Given the description of an element on the screen output the (x, y) to click on. 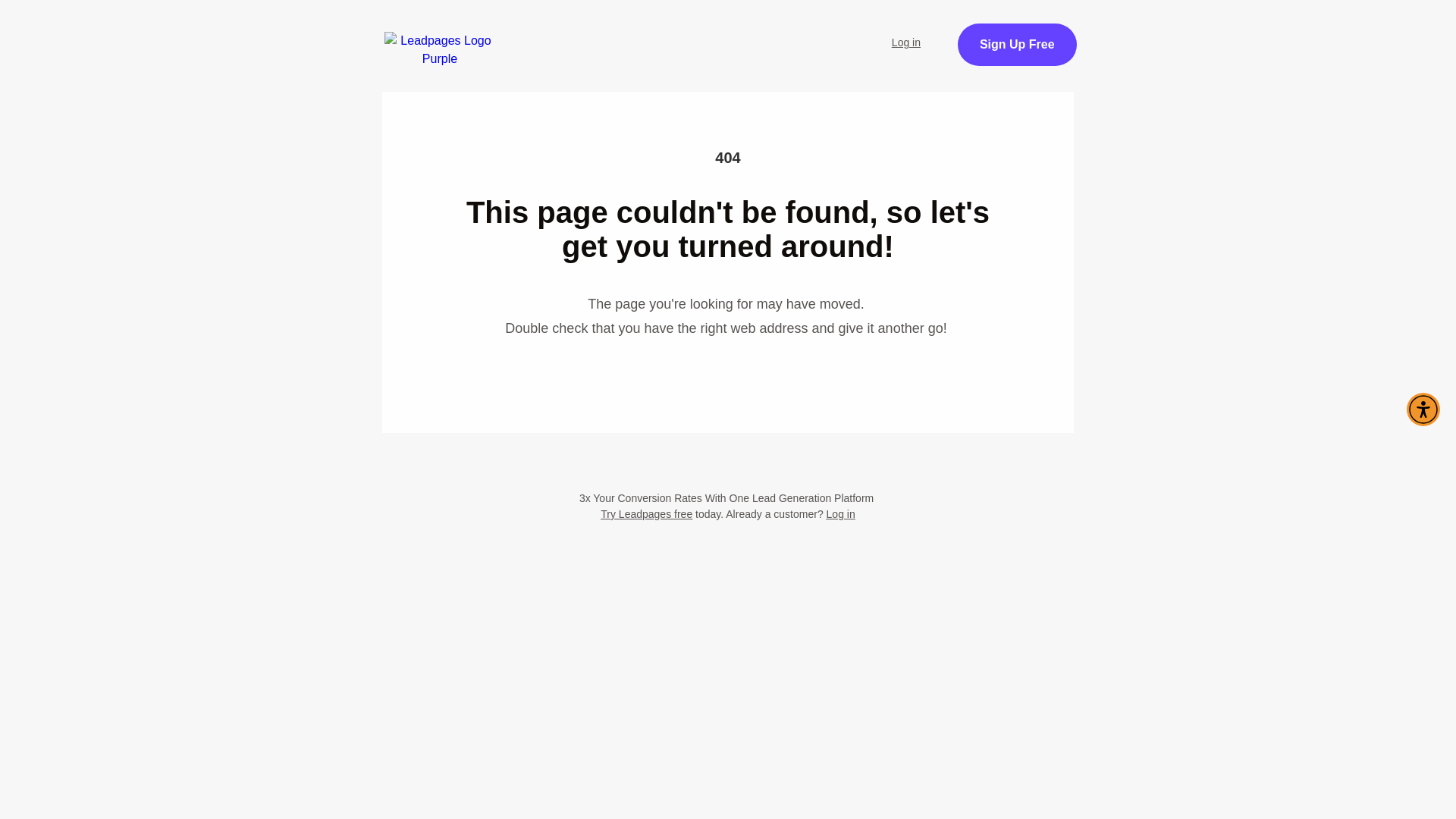
Download TI Pro (908, 33)
Free Trade Ideas (627, 33)
AI Signals (733, 33)
Pricing (812, 33)
Accessibility Menu (1422, 409)
Get Started   (1385, 37)
